Given the description of an element on the screen output the (x, y) to click on. 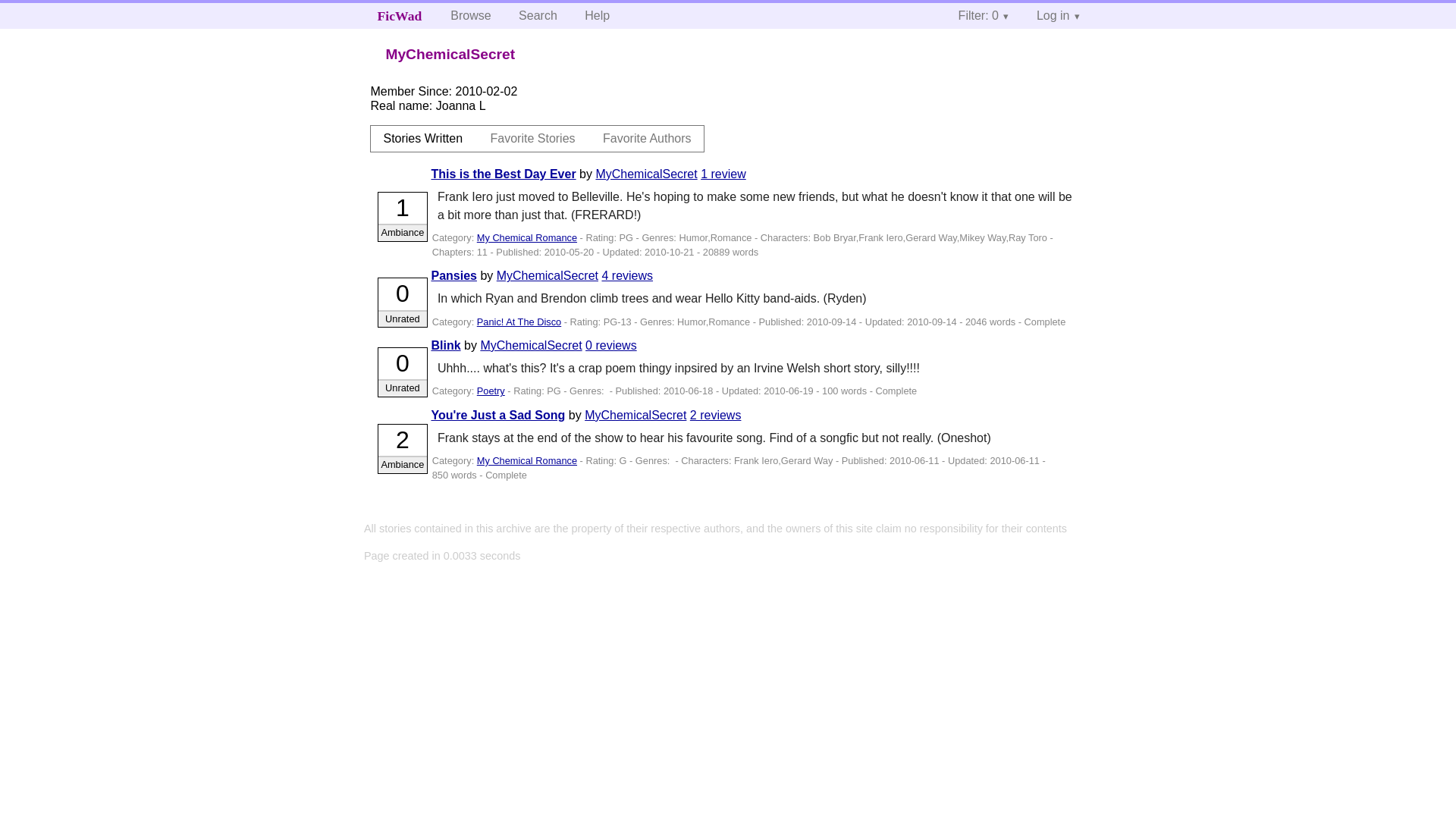
fresh-picked original and fan fiction (399, 15)
MyChemicalSecret (547, 275)
Blink (445, 345)
My Chemical Romance (526, 460)
Favorite Authors (647, 138)
1 review (722, 173)
Search (537, 15)
Help (596, 15)
Filter: 0 (984, 15)
Panic! At The Disco (518, 321)
MyChemicalSecret (530, 345)
Poetry (491, 390)
4 reviews (626, 275)
You're Just a Sad Song (497, 414)
Browse (470, 15)
